Given the description of an element on the screen output the (x, y) to click on. 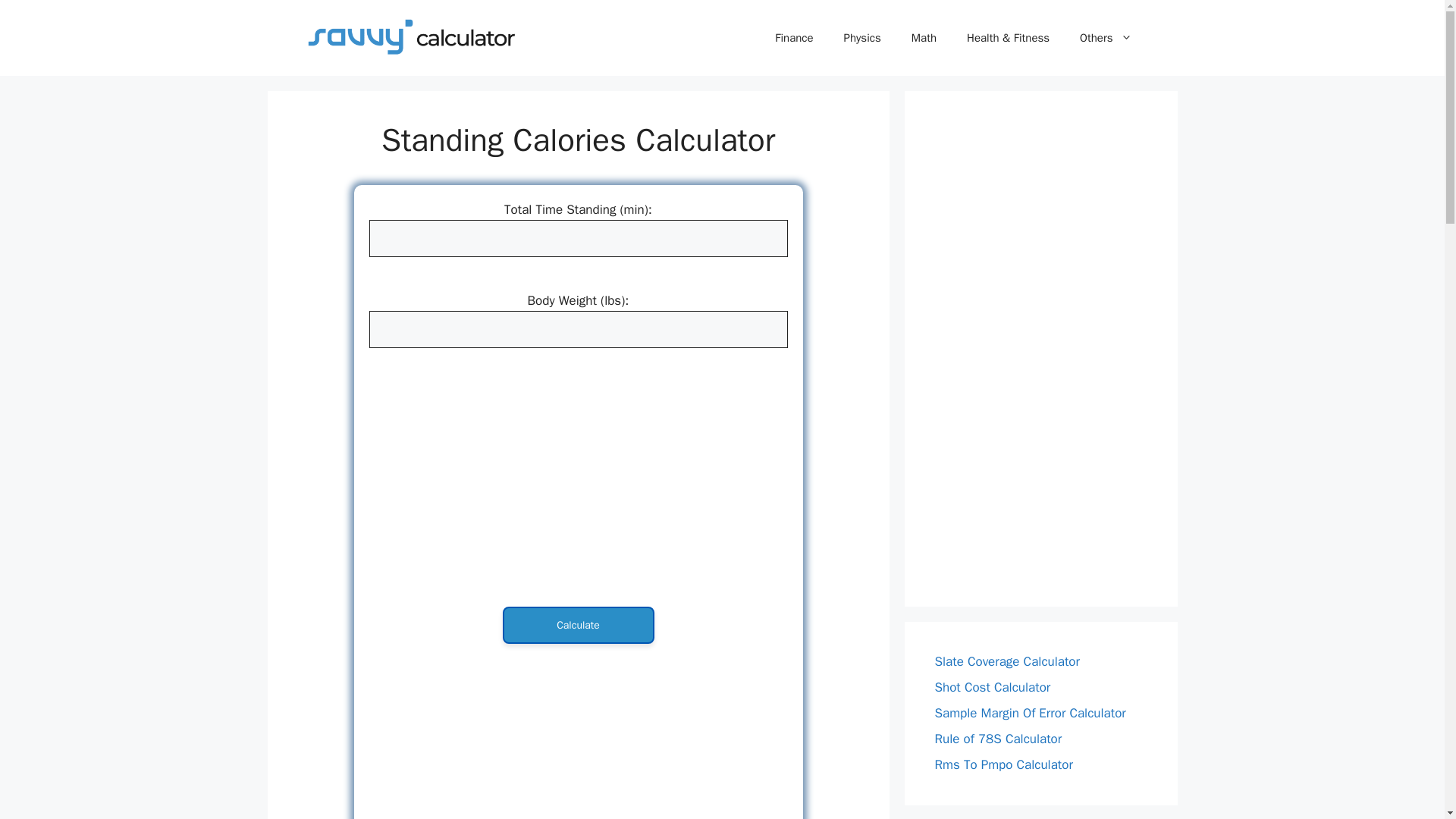
Calculate (577, 624)
Sample Margin Of Error Calculator (1029, 713)
Slate Coverage Calculator (1006, 661)
Rule of 78S Calculator (997, 738)
Shot Cost Calculator (991, 687)
Finance (794, 37)
Math (924, 37)
Advertisement (577, 734)
Others (1105, 37)
Rms To Pmpo Calculator (1002, 764)
